Given the description of an element on the screen output the (x, y) to click on. 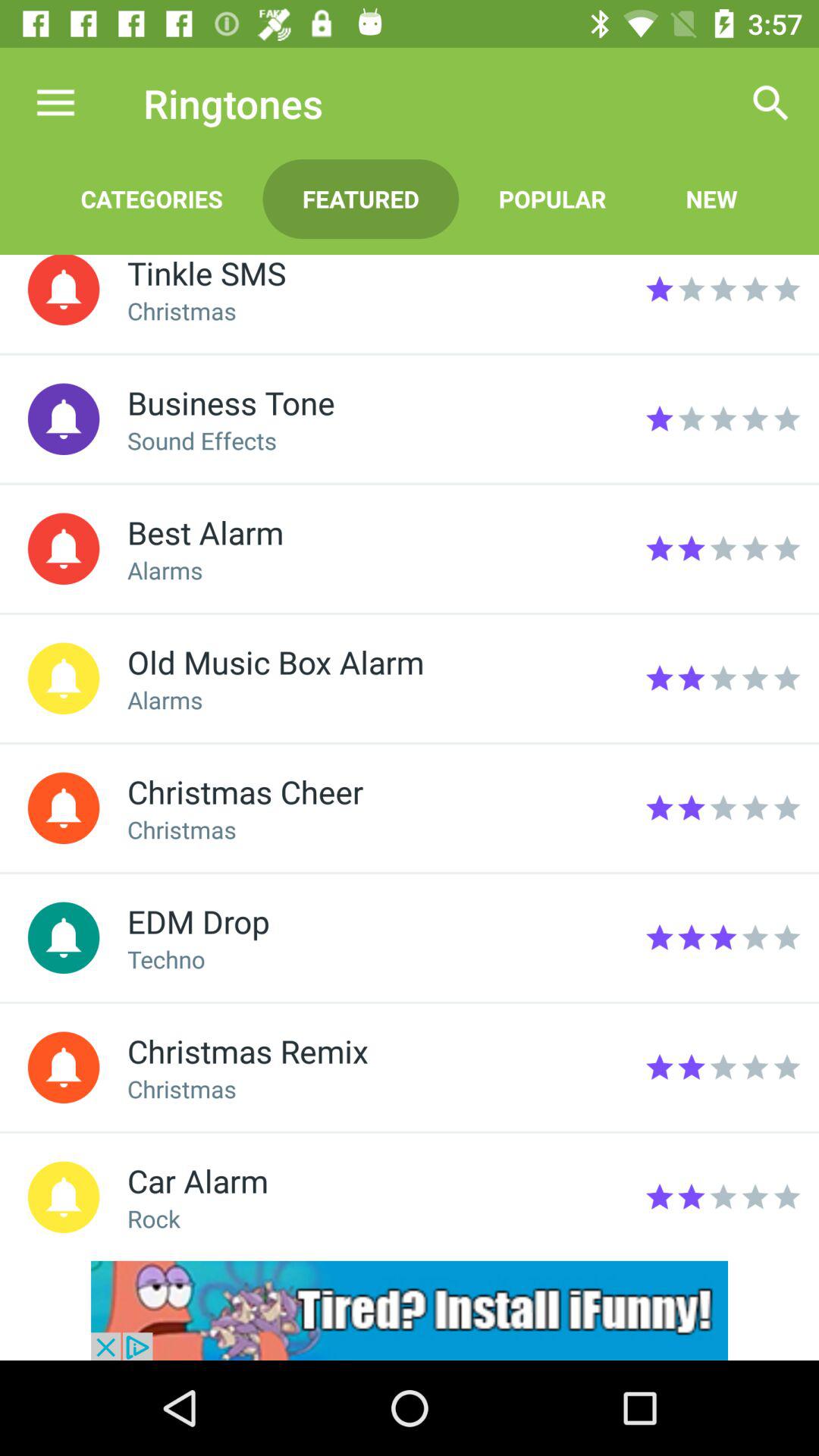
select advertisement (409, 1310)
